Given the description of an element on the screen output the (x, y) to click on. 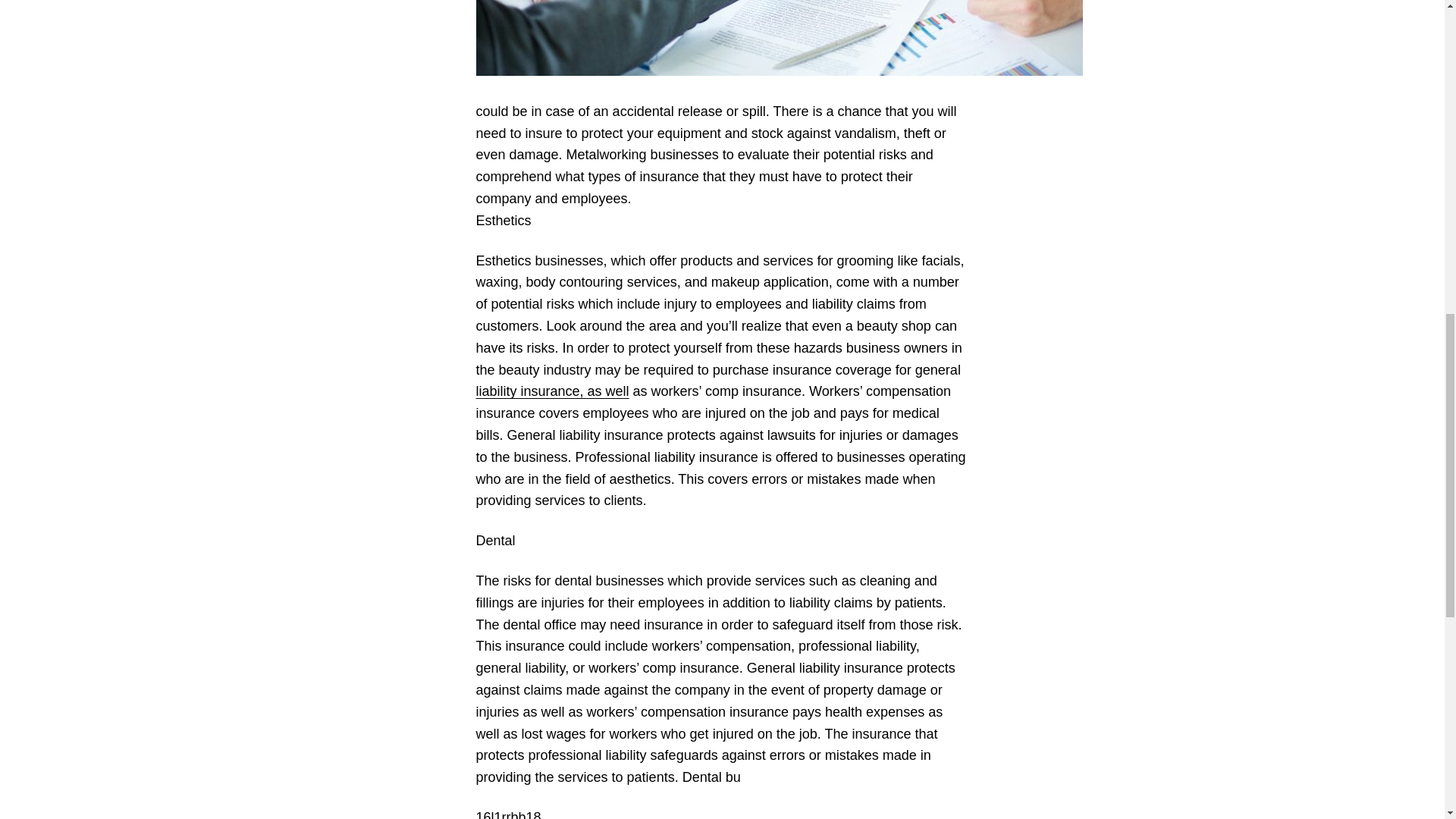
liability insurance, as well (552, 391)
